Given the description of an element on the screen output the (x, y) to click on. 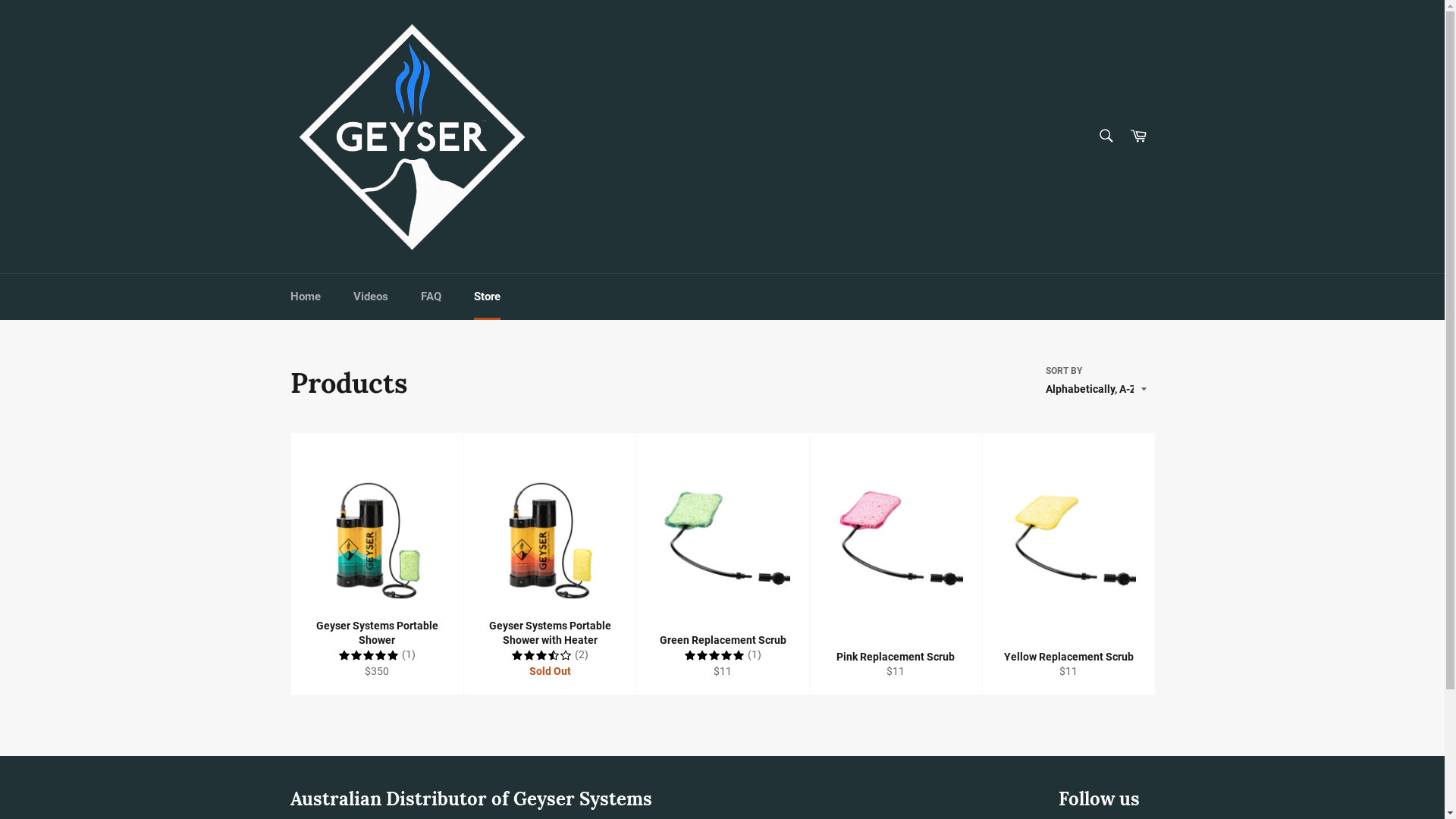
Store Element type: text (486, 296)
Green Replacement Scrub
 (1)
Regular price
$11 Element type: text (721, 563)
Cart Element type: text (1138, 136)
Videos Element type: text (370, 296)
Search Element type: text (1105, 135)
Home Element type: text (304, 296)
Geyser Systems Portable Shower with Heater
 (2)
Sold Out Element type: text (548, 563)
Pink Replacement Scrub
Regular price
$11 Element type: text (894, 563)
FAQ Element type: text (429, 296)
Geyser Systems Portable Shower
 (1)
Regular price
$350 Element type: text (375, 563)
Yellow Replacement Scrub
Regular price
$11 Element type: text (1067, 563)
